Given the description of an element on the screen output the (x, y) to click on. 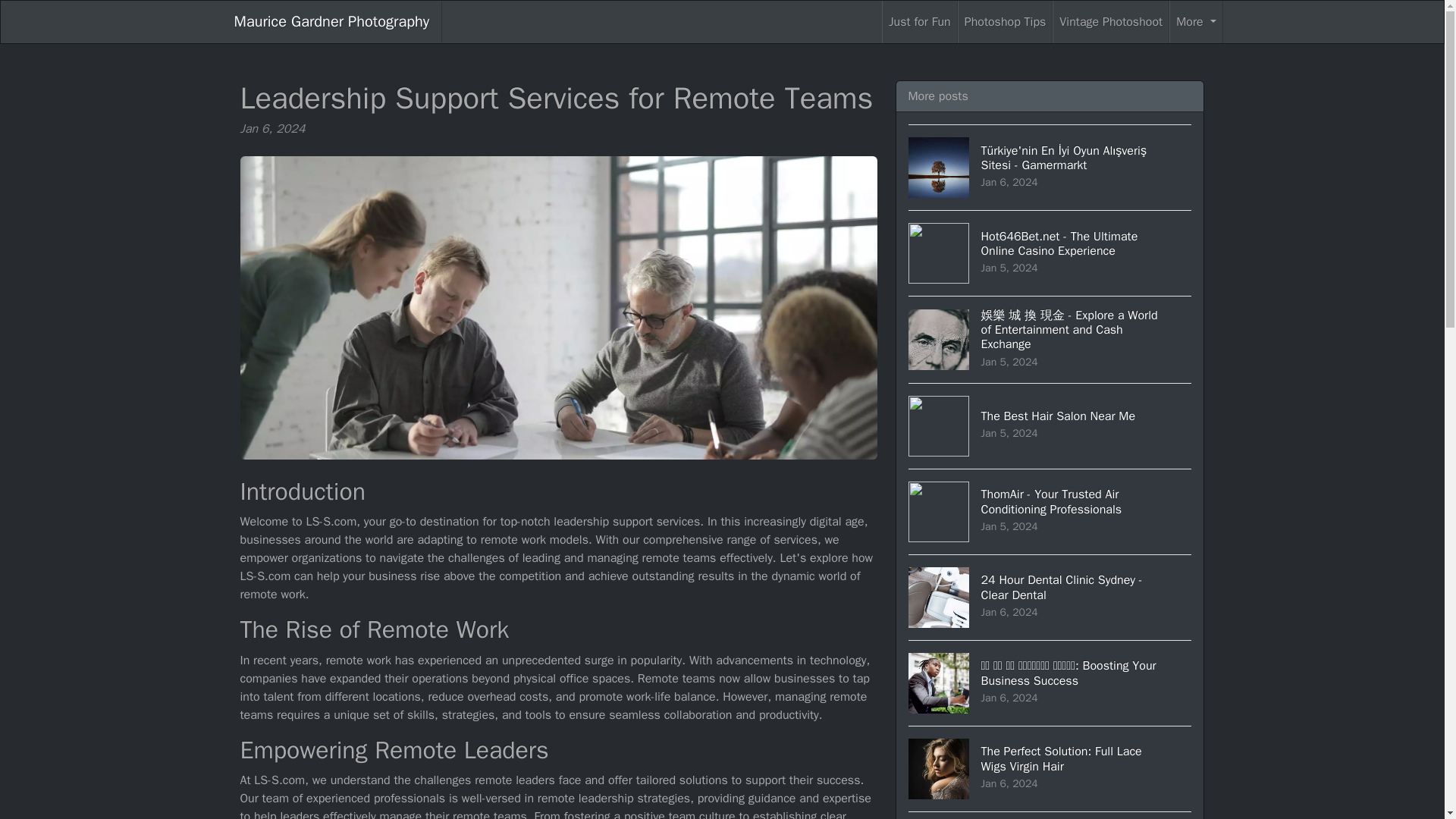
Just for Fun (919, 21)
Maurice Gardner Photography (1050, 768)
More (331, 21)
Vintage Photoshoot (1196, 21)
Photoshop Tips (1110, 21)
